Given the description of an element on the screen output the (x, y) to click on. 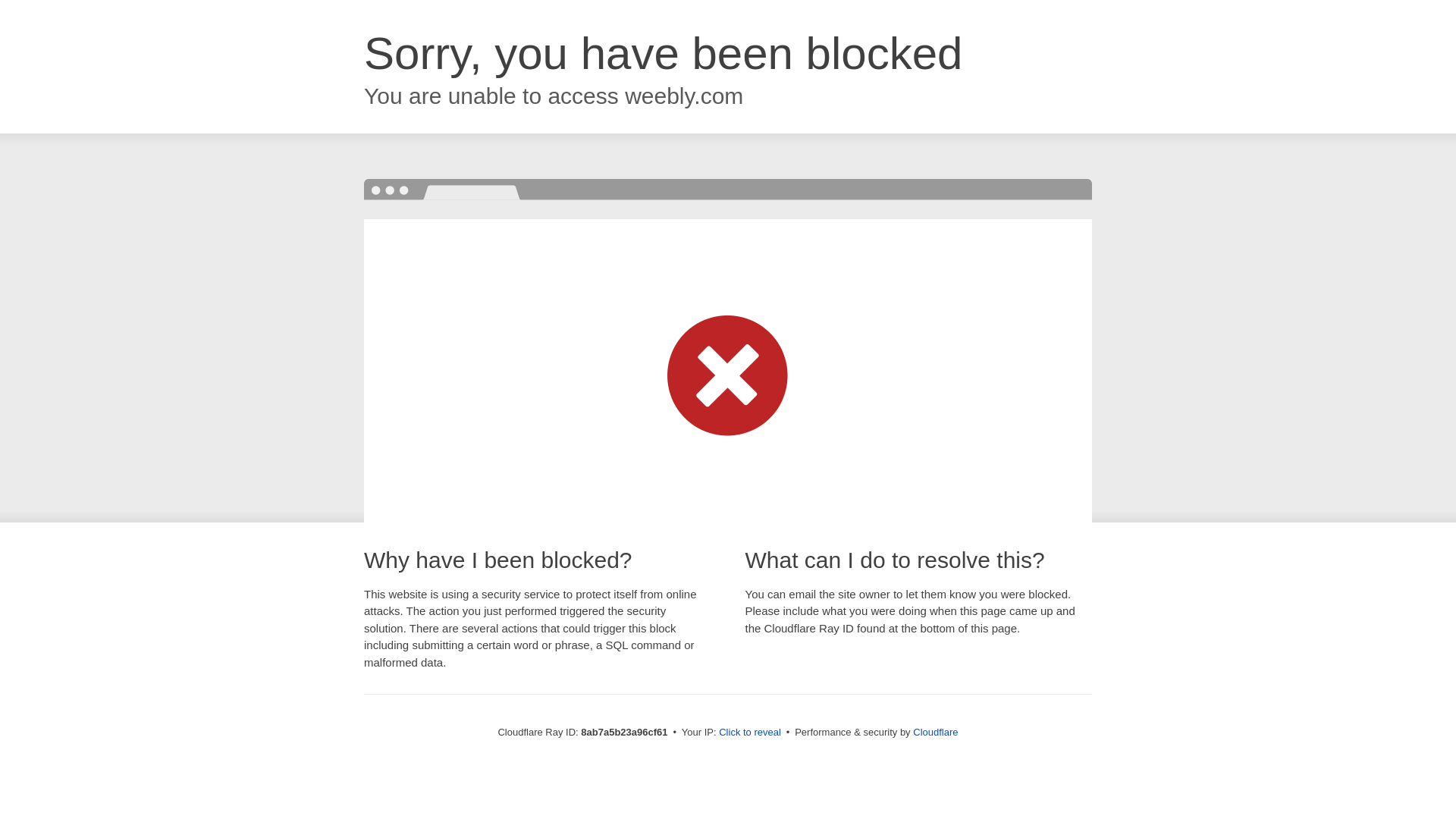
Click to reveal (749, 732)
Cloudflare (935, 731)
